Given the description of an element on the screen output the (x, y) to click on. 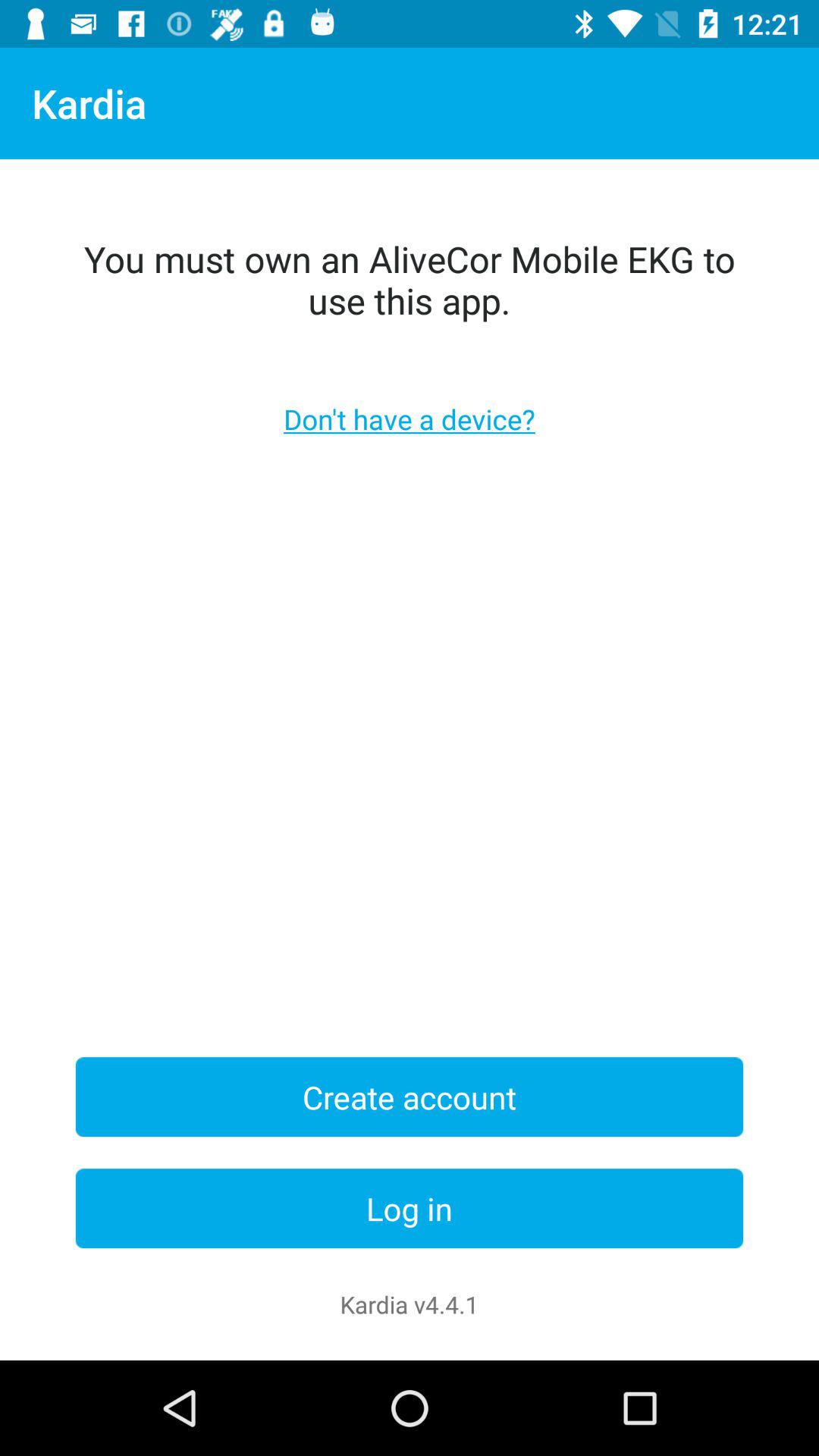
scroll until the don t have icon (409, 418)
